Given the description of an element on the screen output the (x, y) to click on. 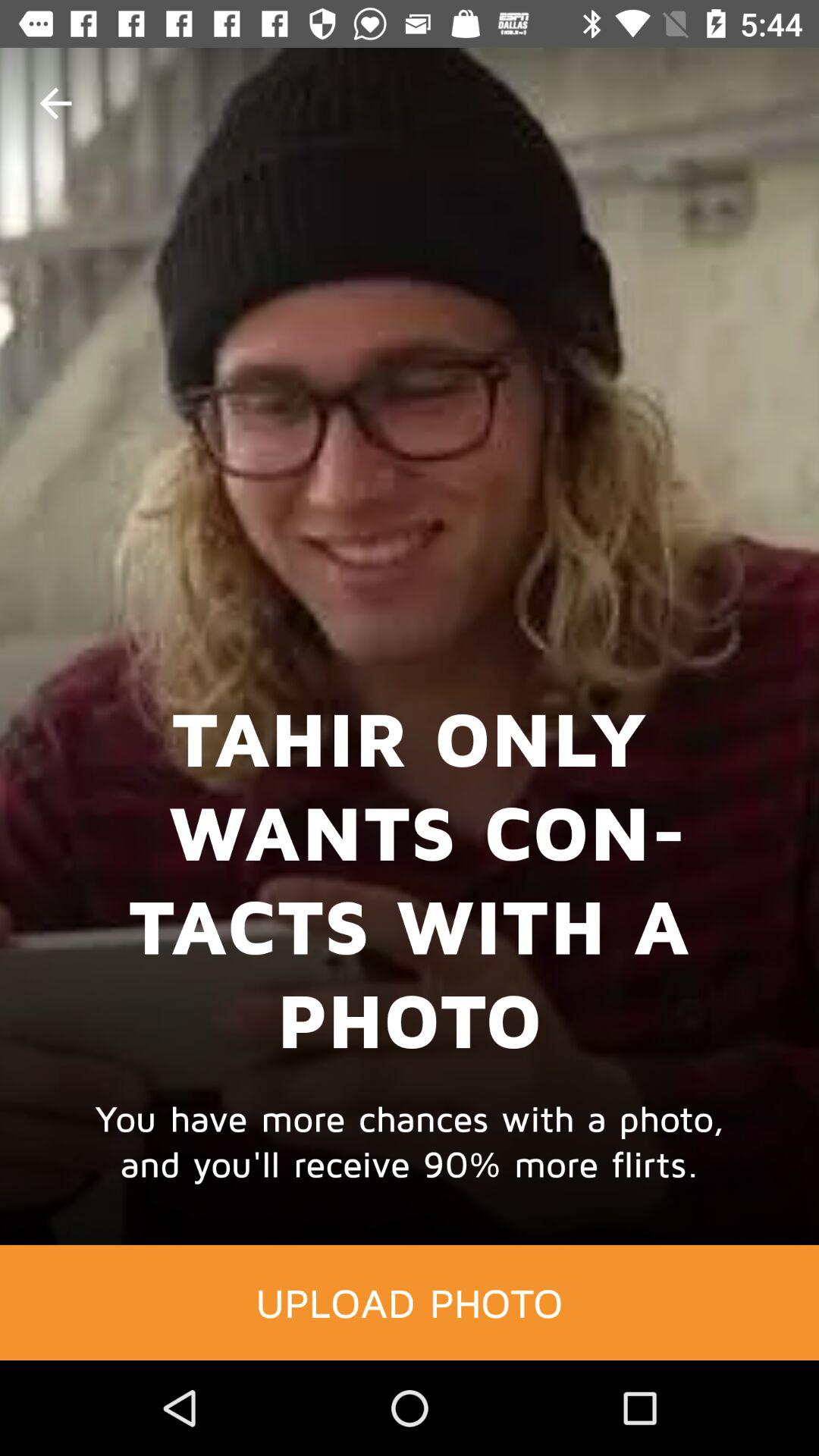
scroll until upload photo (409, 1302)
